Given the description of an element on the screen output the (x, y) to click on. 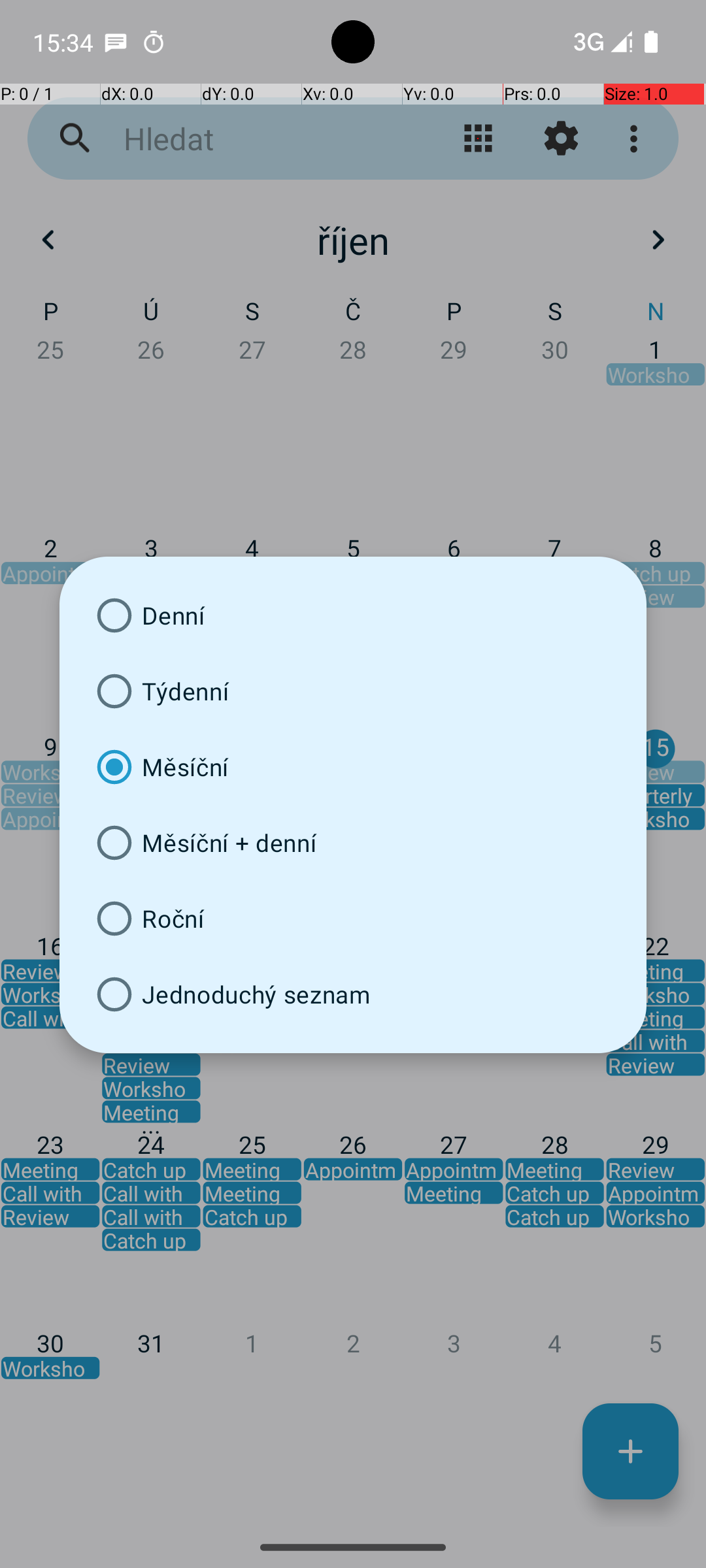
Denní Element type: android.widget.RadioButton (352, 615)
Týdenní Element type: android.widget.RadioButton (352, 691)
Měsíční Element type: android.widget.RadioButton (352, 766)
Měsíční + denní Element type: android.widget.RadioButton (352, 842)
Roční Element type: android.widget.RadioButton (352, 918)
Jednoduchý seznam Element type: android.widget.RadioButton (352, 994)
